Given the description of an element on the screen output the (x, y) to click on. 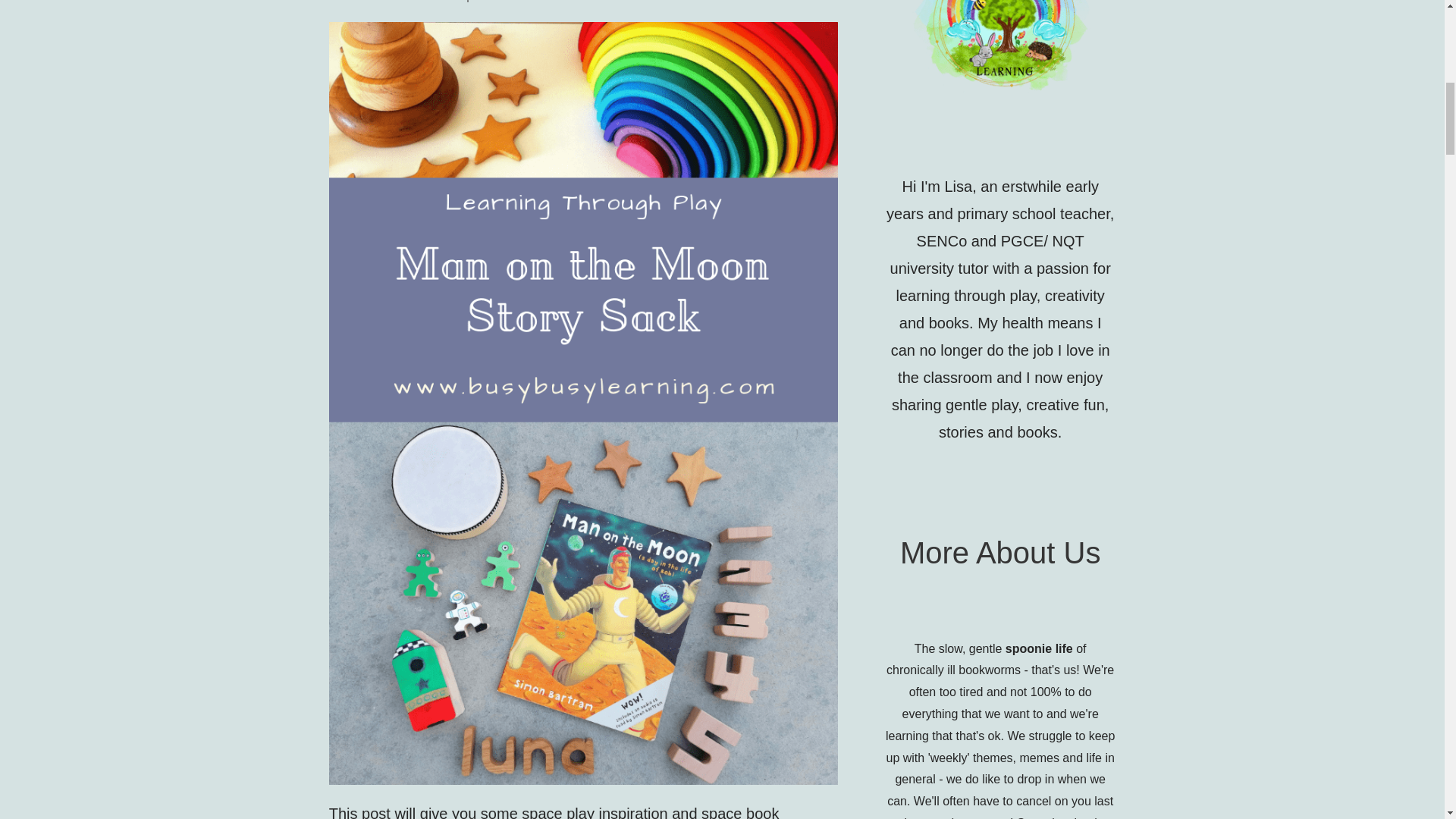
Posts by Lisa (593, 1)
Leave a comment (695, 1)
Lisa (593, 1)
